Given the description of an element on the screen output the (x, y) to click on. 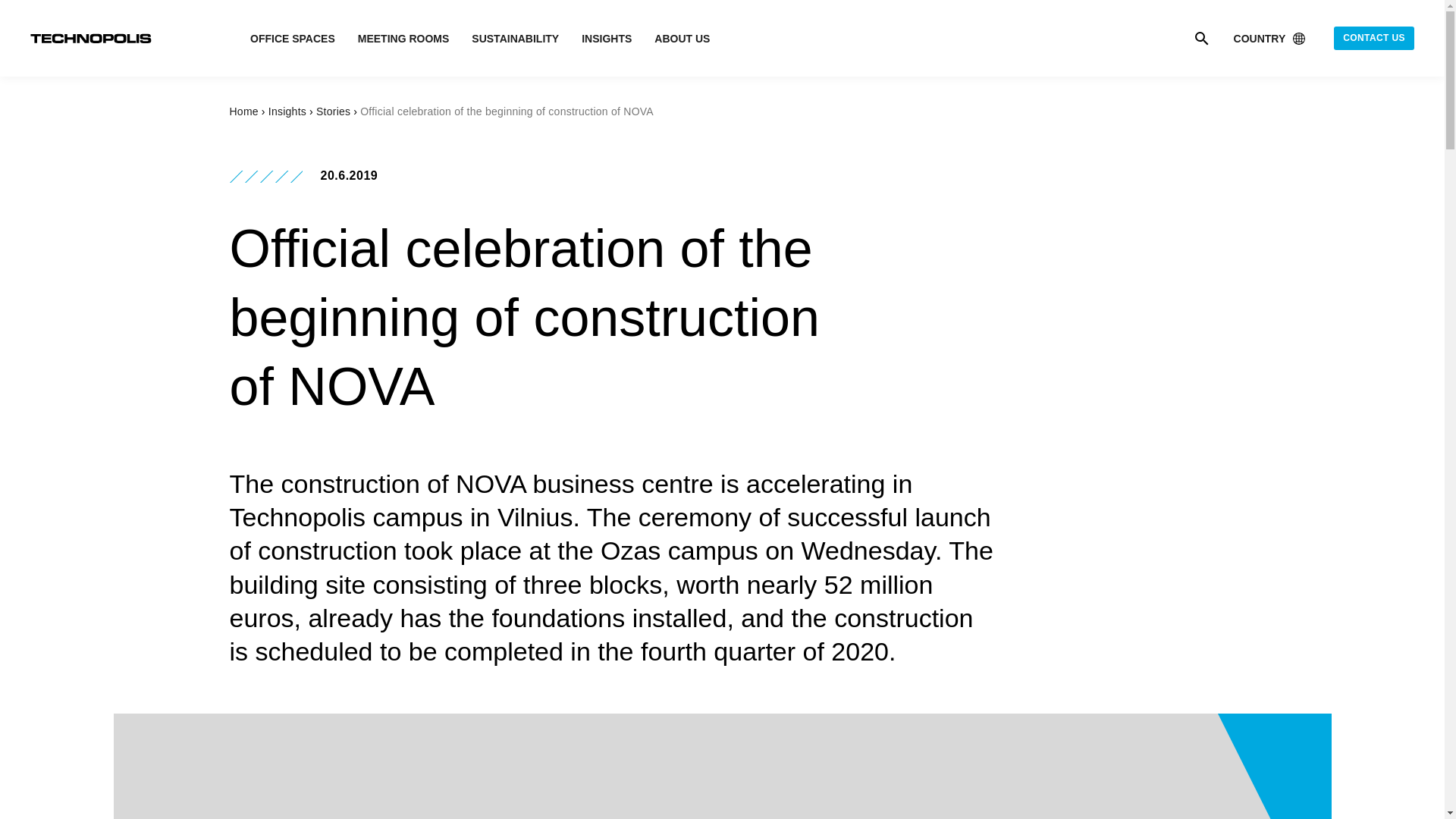
INSIGHTS (605, 38)
COUNTRY (1270, 38)
Search (1201, 37)
Home (242, 111)
Insights (286, 111)
ABOUT US (681, 38)
OFFICE SPACES (292, 38)
Stories (332, 111)
SUSTAINABILITY (515, 38)
MEETING ROOMS (403, 38)
CONTACT US (1373, 38)
